Given the description of an element on the screen output the (x, y) to click on. 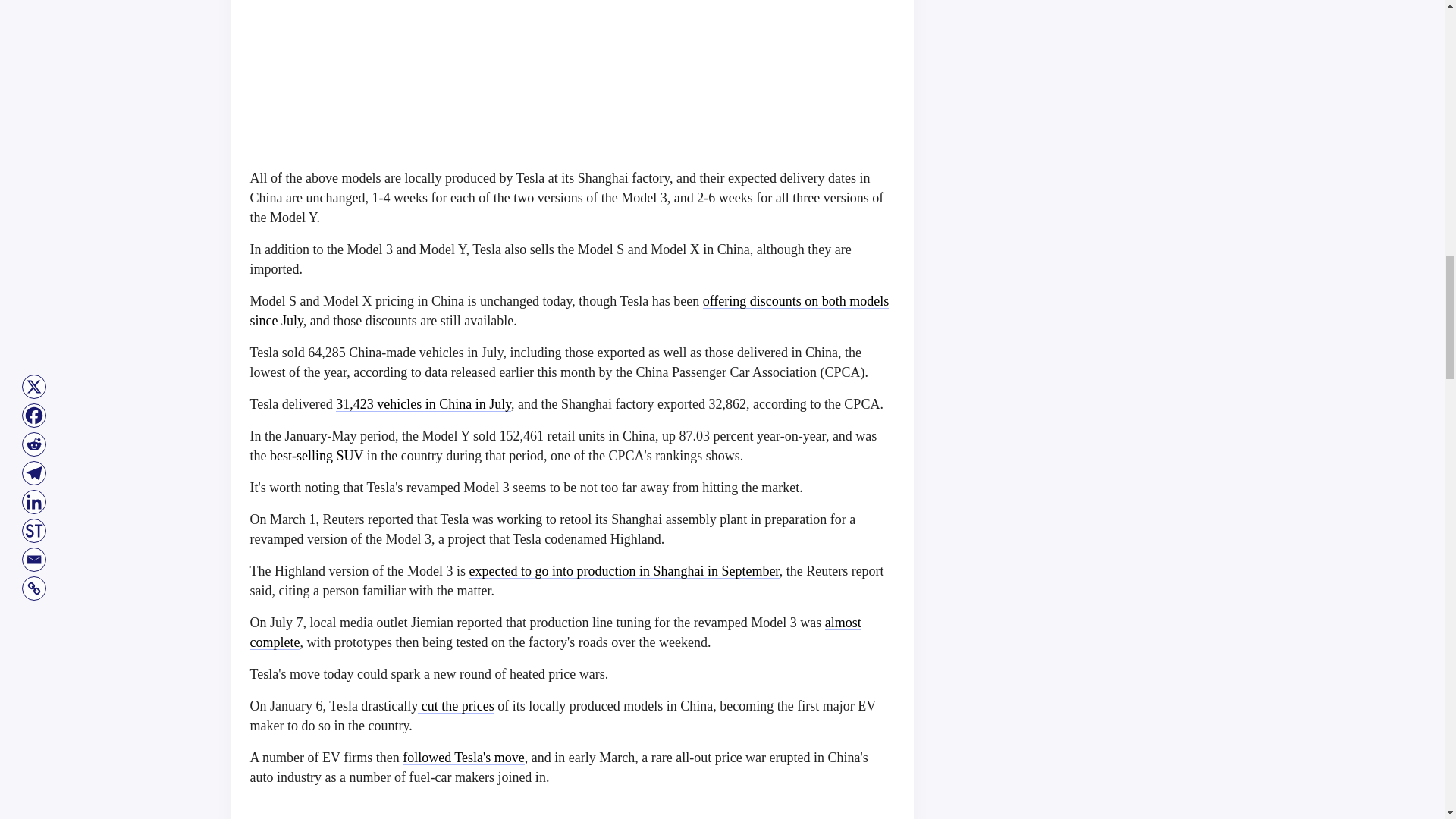
31,423 vehicles in China in July (423, 403)
offering discounts on both models since July (569, 310)
expected to go into production in Shanghai in September (623, 570)
followed Tesla's move (463, 757)
cut the prices (455, 705)
best-selling SUV (315, 455)
almost complete (555, 632)
